Given the description of an element on the screen output the (x, y) to click on. 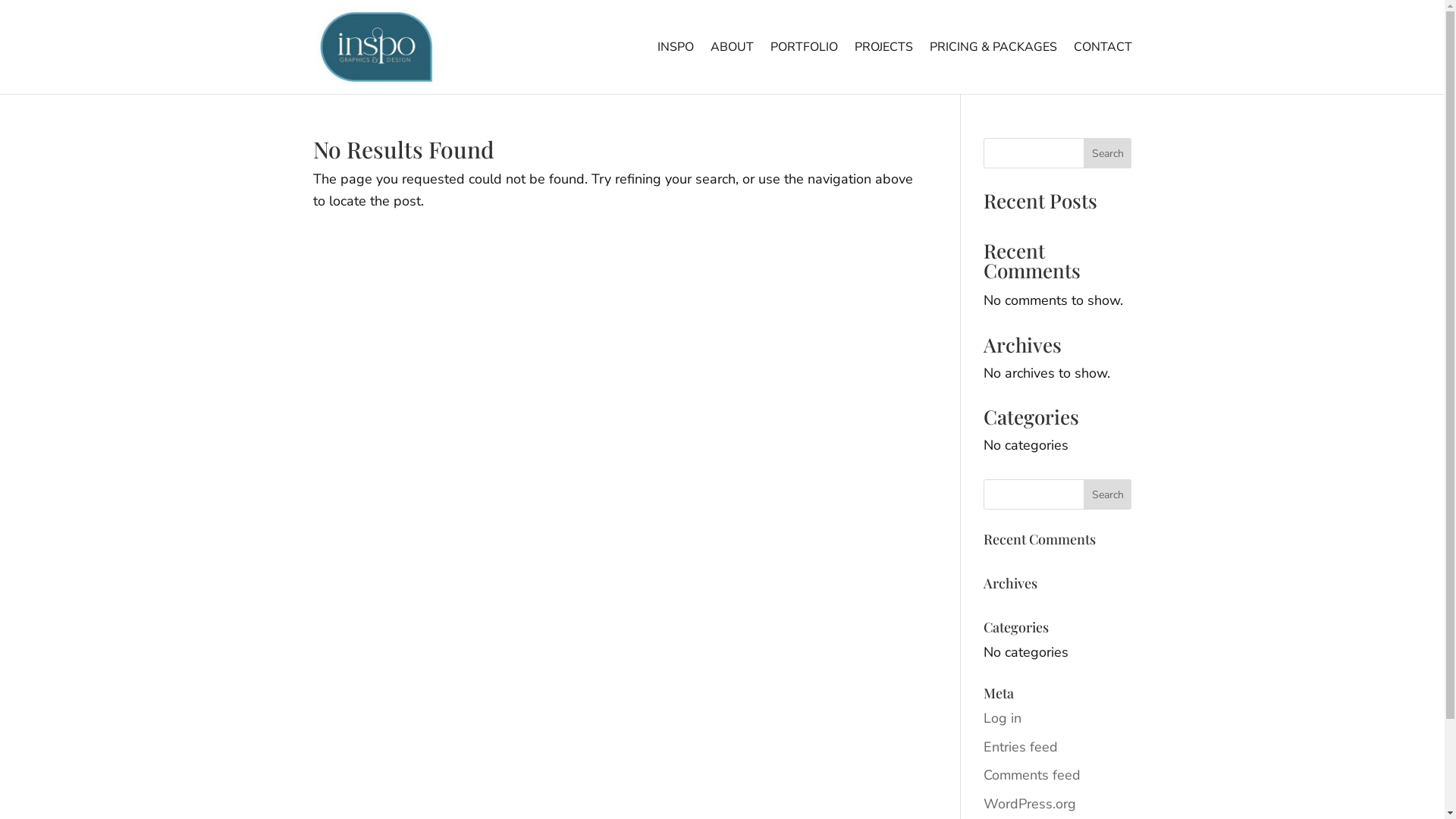
PROJECTS Element type: text (882, 67)
PORTFOLIO Element type: text (803, 67)
Search Element type: text (1107, 153)
Comments feed Element type: text (1031, 774)
PRICING & PACKAGES Element type: text (993, 67)
WordPress.org Element type: text (1029, 803)
INSPO Element type: text (674, 67)
Entries feed Element type: text (1020, 746)
Search Element type: text (1107, 494)
ABOUT Element type: text (731, 67)
CONTACT Element type: text (1102, 67)
Log in Element type: text (1002, 718)
